Given the description of an element on the screen output the (x, y) to click on. 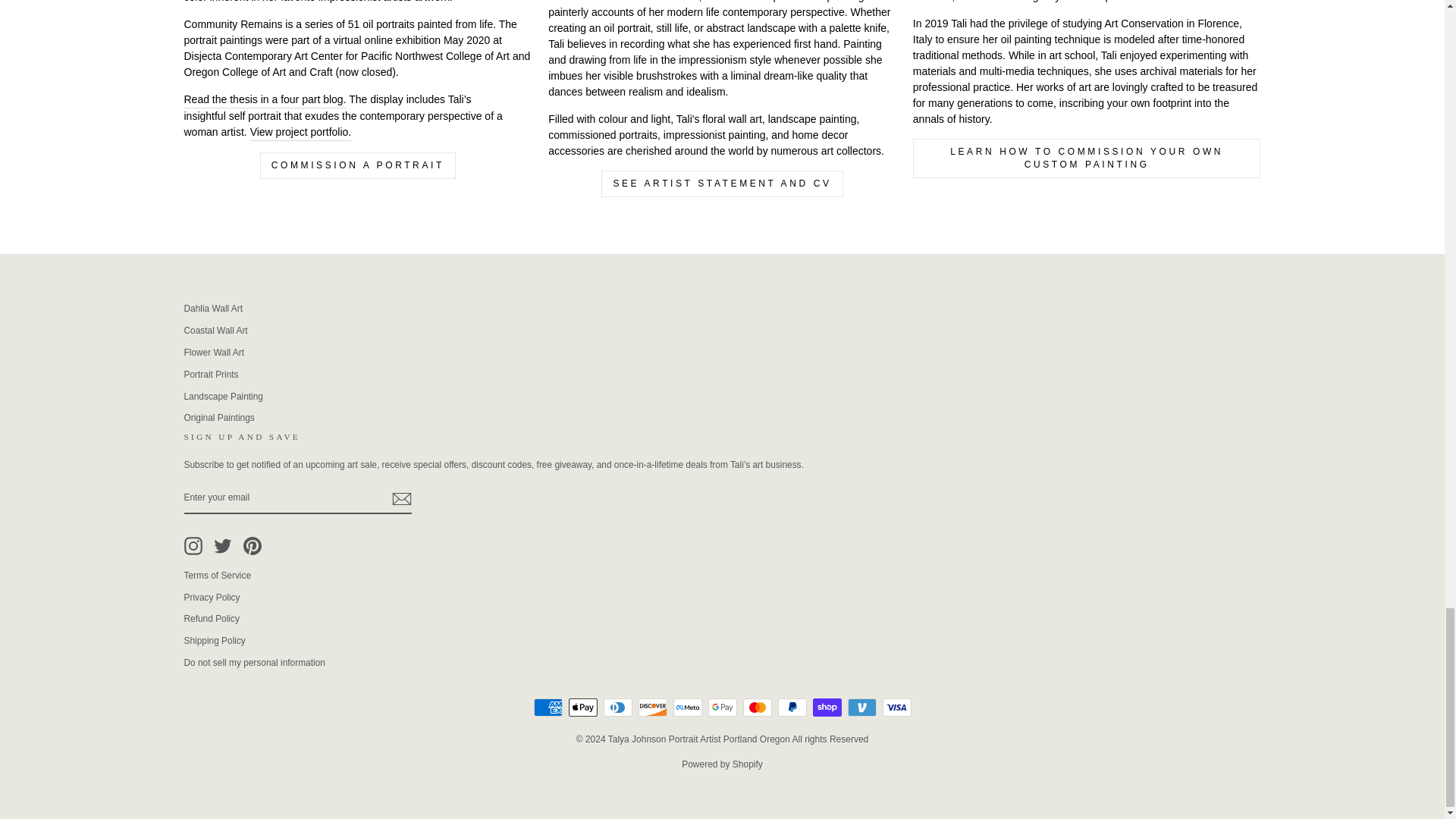
Talya Johnson on Twitter (222, 546)
Talya Johnson on Pinterest (251, 546)
Portrait Painting (264, 99)
Talya Johnson on Instagram (192, 546)
Oil Portraits from Life (301, 132)
